Given the description of an element on the screen output the (x, y) to click on. 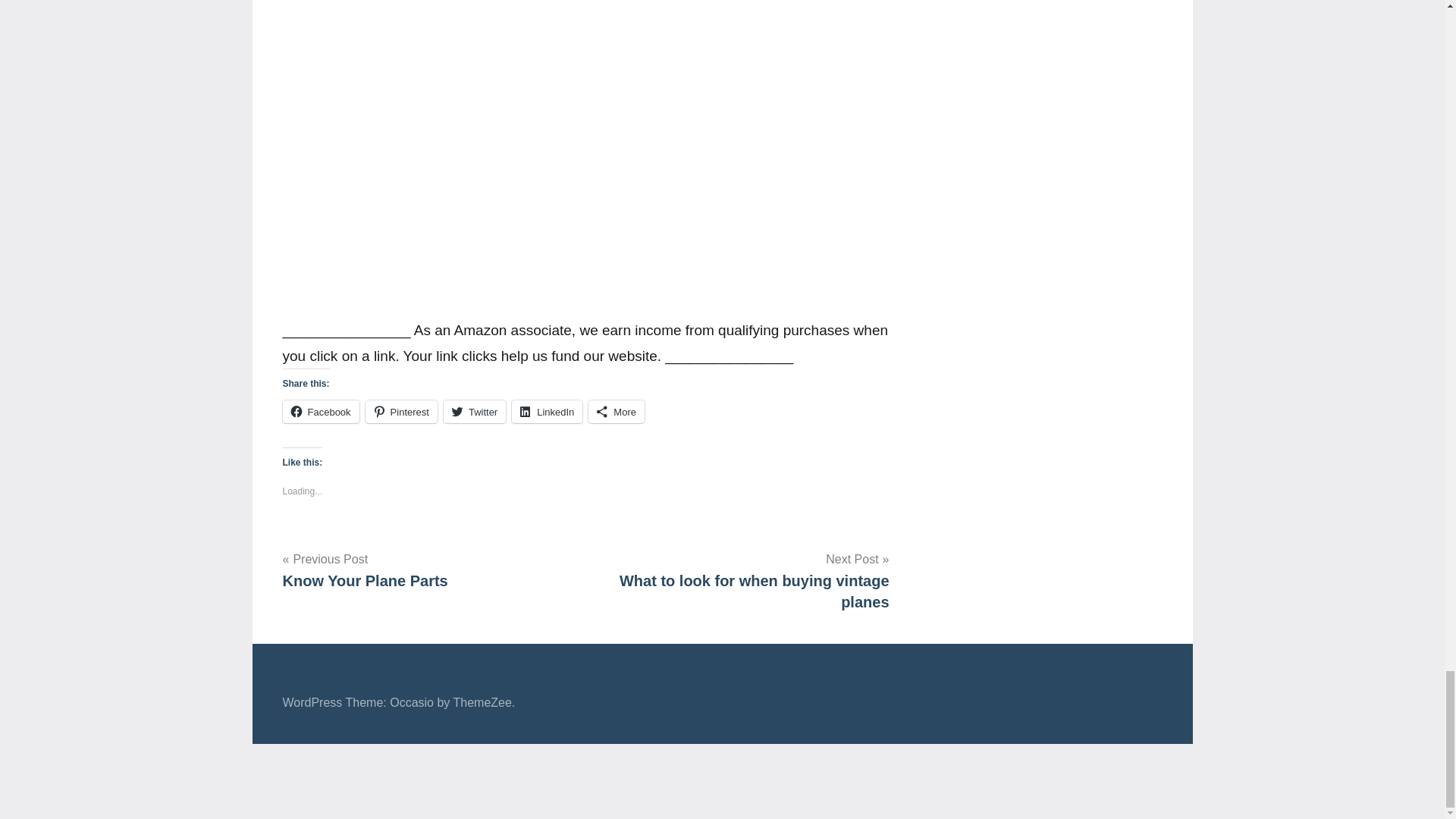
Click to share on Facebook (320, 411)
More (616, 411)
Click to share on LinkedIn (547, 411)
Facebook (320, 411)
Twitter (474, 411)
Click to share on Twitter (474, 411)
Pinterest (401, 411)
Click to share on Pinterest (401, 411)
LinkedIn (547, 411)
